Given the description of an element on the screen output the (x, y) to click on. 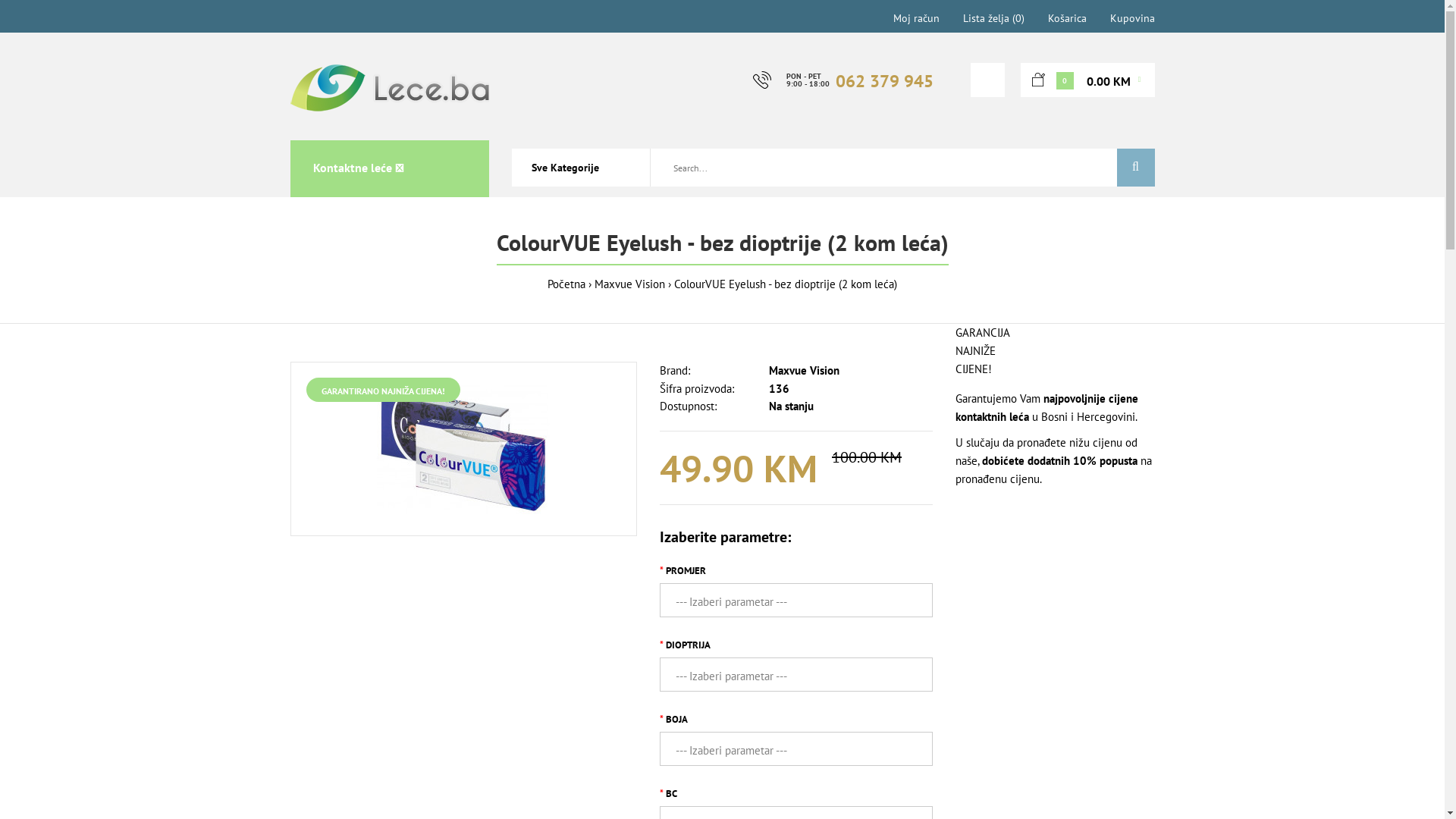
Maxvue Vision Element type: text (803, 370)
Kupovina Element type: text (1132, 18)
0
0.00 KM Element type: text (1087, 79)
Maxvue Vision Element type: text (629, 283)
Lece.ba  Element type: hover (388, 87)
